Given the description of an element on the screen output the (x, y) to click on. 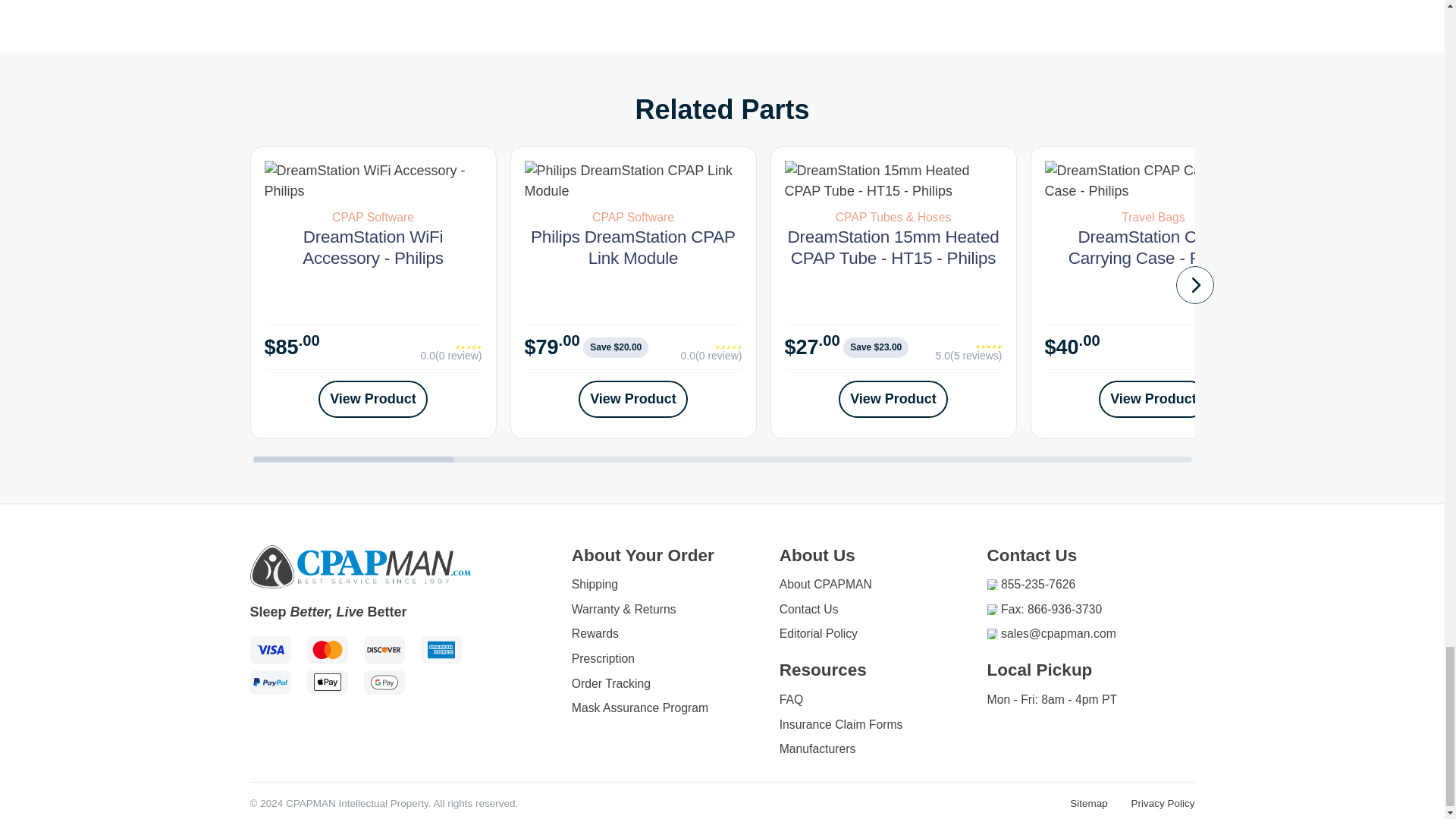
 Philips DreamStation CPAP Link Module  (633, 180)
 DreamStation CPAP Carrying Case - Philips  (1153, 180)
 DreamStation WiFi Accessory - Philips  (372, 180)
 DreamStation 15mm Heated CPAP Tube - HT15 - Philips  (892, 180)
